Given the description of an element on the screen output the (x, y) to click on. 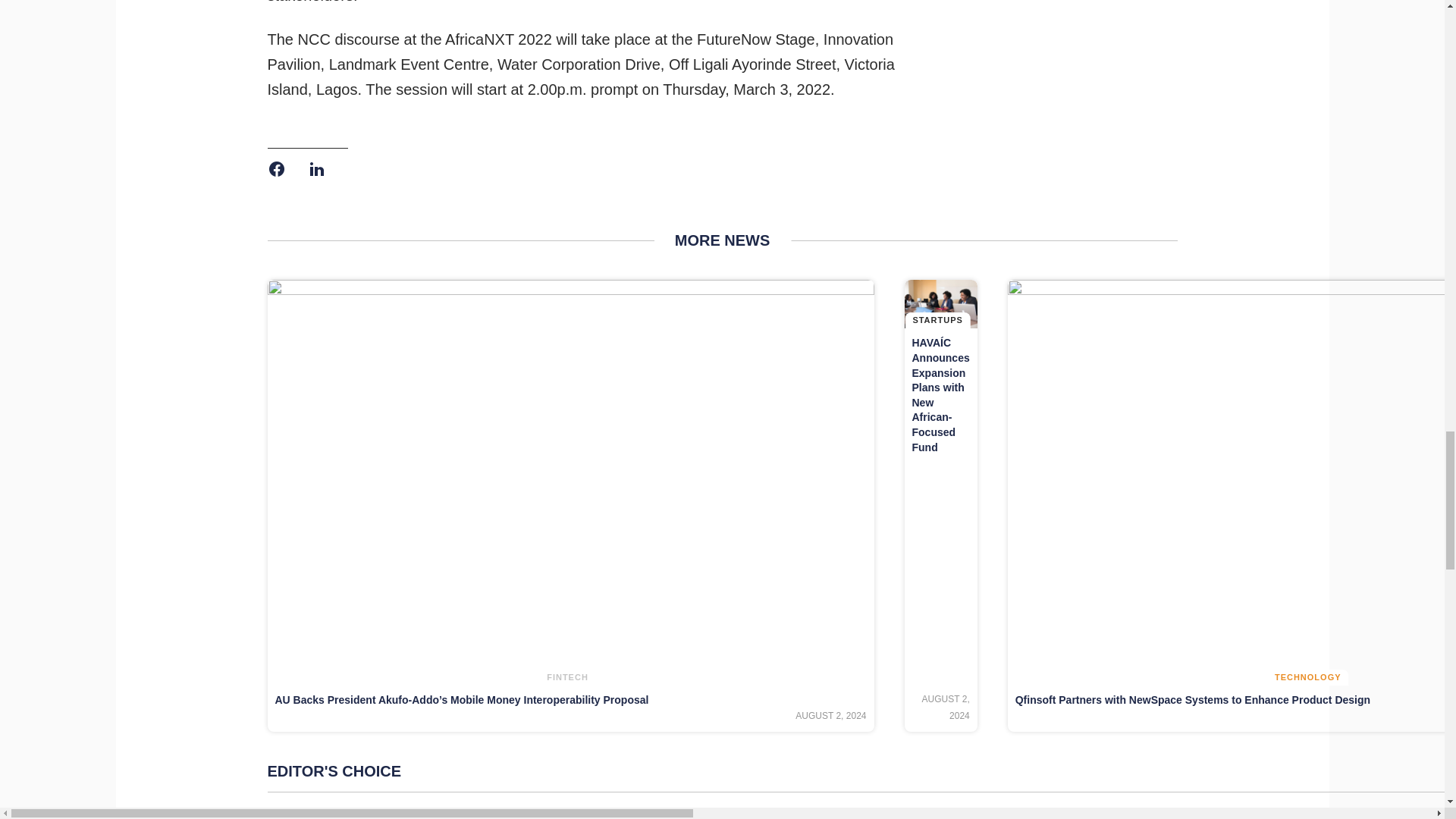
EDITOR'S CHOICE (861, 771)
